Given the description of an element on the screen output the (x, y) to click on. 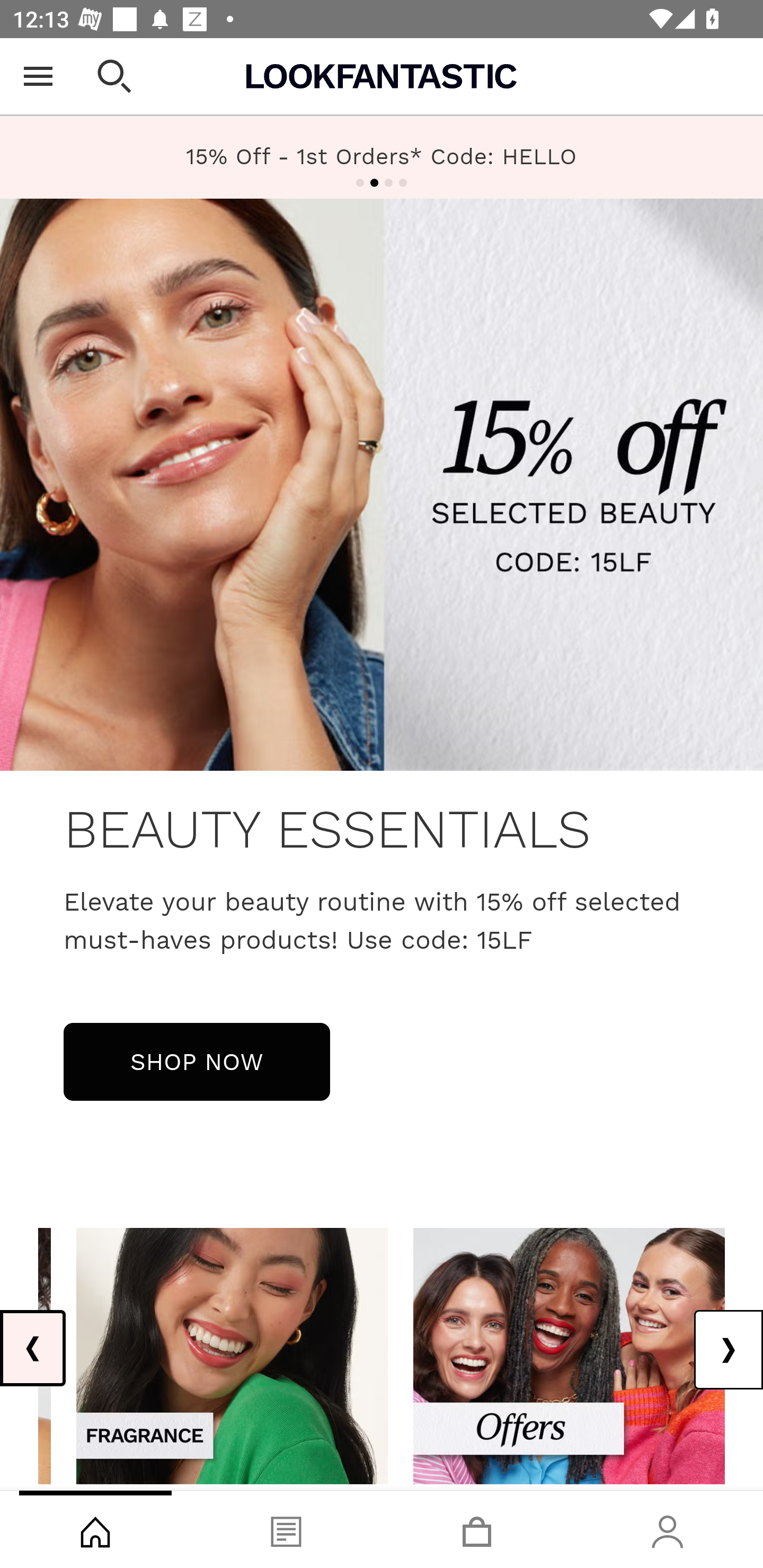
Open Menu (38, 75)
Close search (114, 75)
Lookfantastic USA (381, 75)
SHOP NOW (196, 1061)
Previous (33, 1348)
Next (727, 1349)
Shop, tab, 1 of 4 (95, 1529)
Blog, tab, 2 of 4 (285, 1529)
Basket, tab, 3 of 4 (476, 1529)
Account, tab, 4 of 4 (667, 1529)
